Given the description of an element on the screen output the (x, y) to click on. 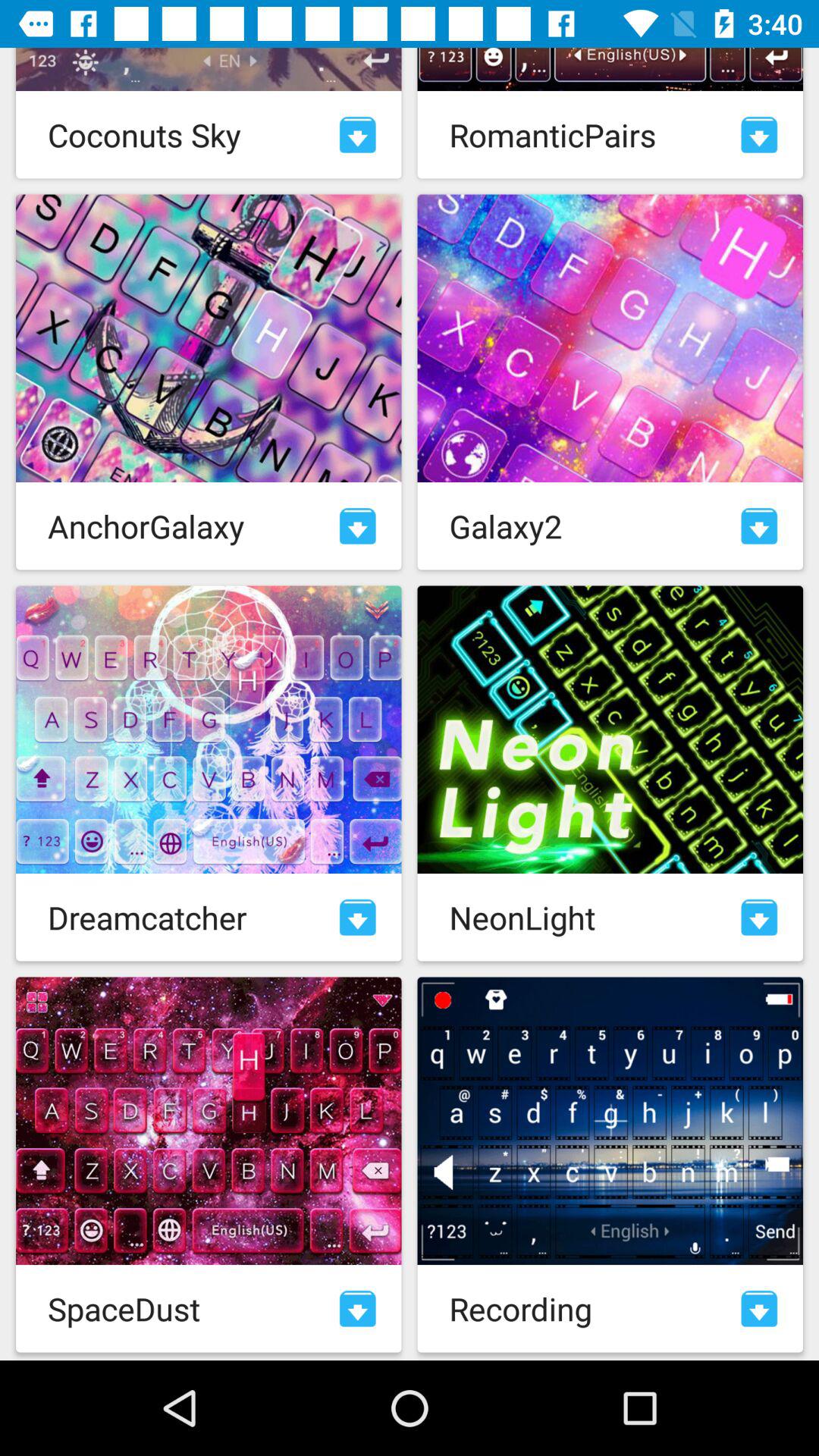
download pack (759, 917)
